Given the description of an element on the screen output the (x, y) to click on. 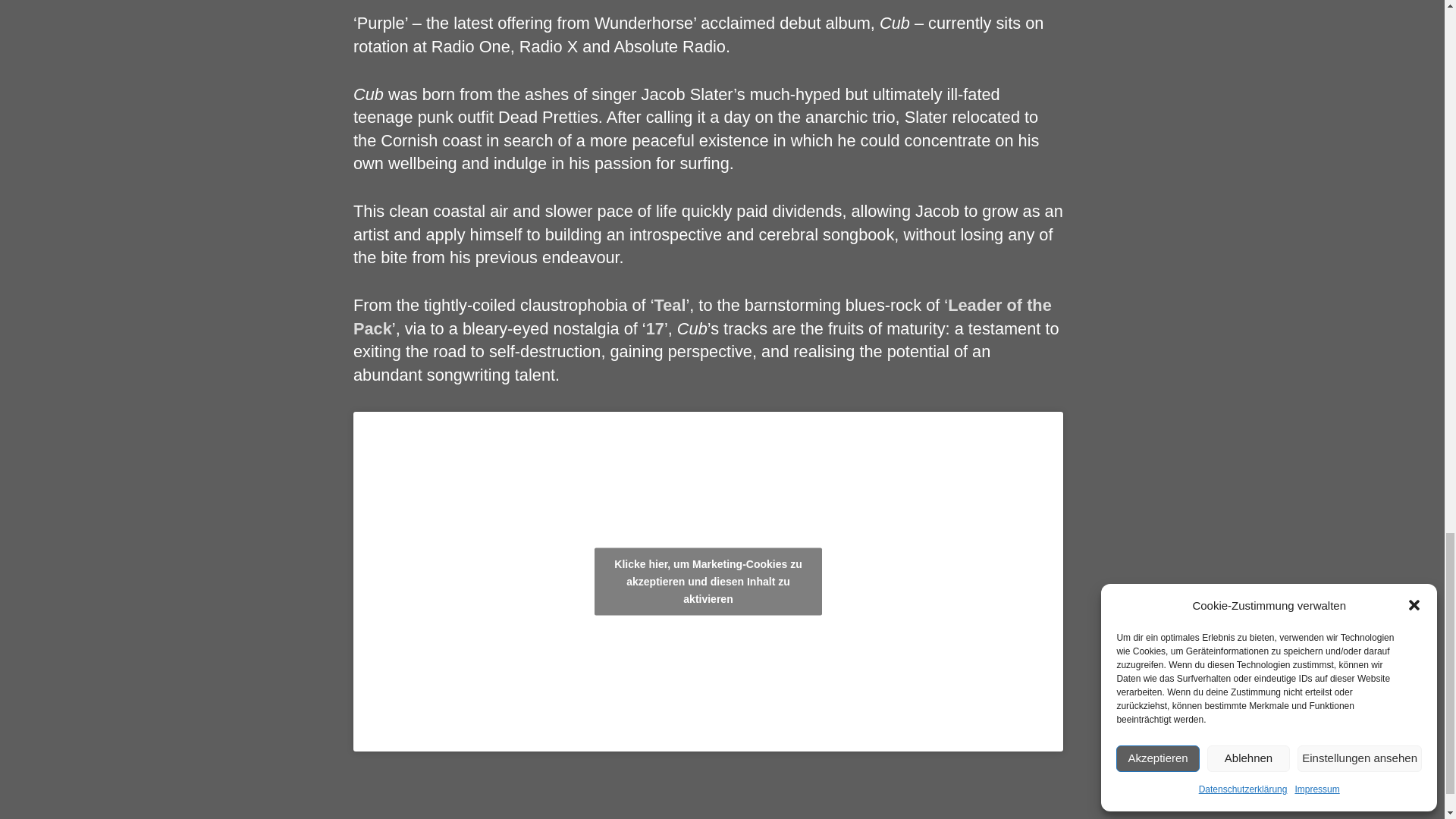
Datenschutz (347, 818)
17 (654, 328)
Impressum (274, 818)
Leader of the Pack (702, 316)
Teal (669, 304)
